Given the description of an element on the screen output the (x, y) to click on. 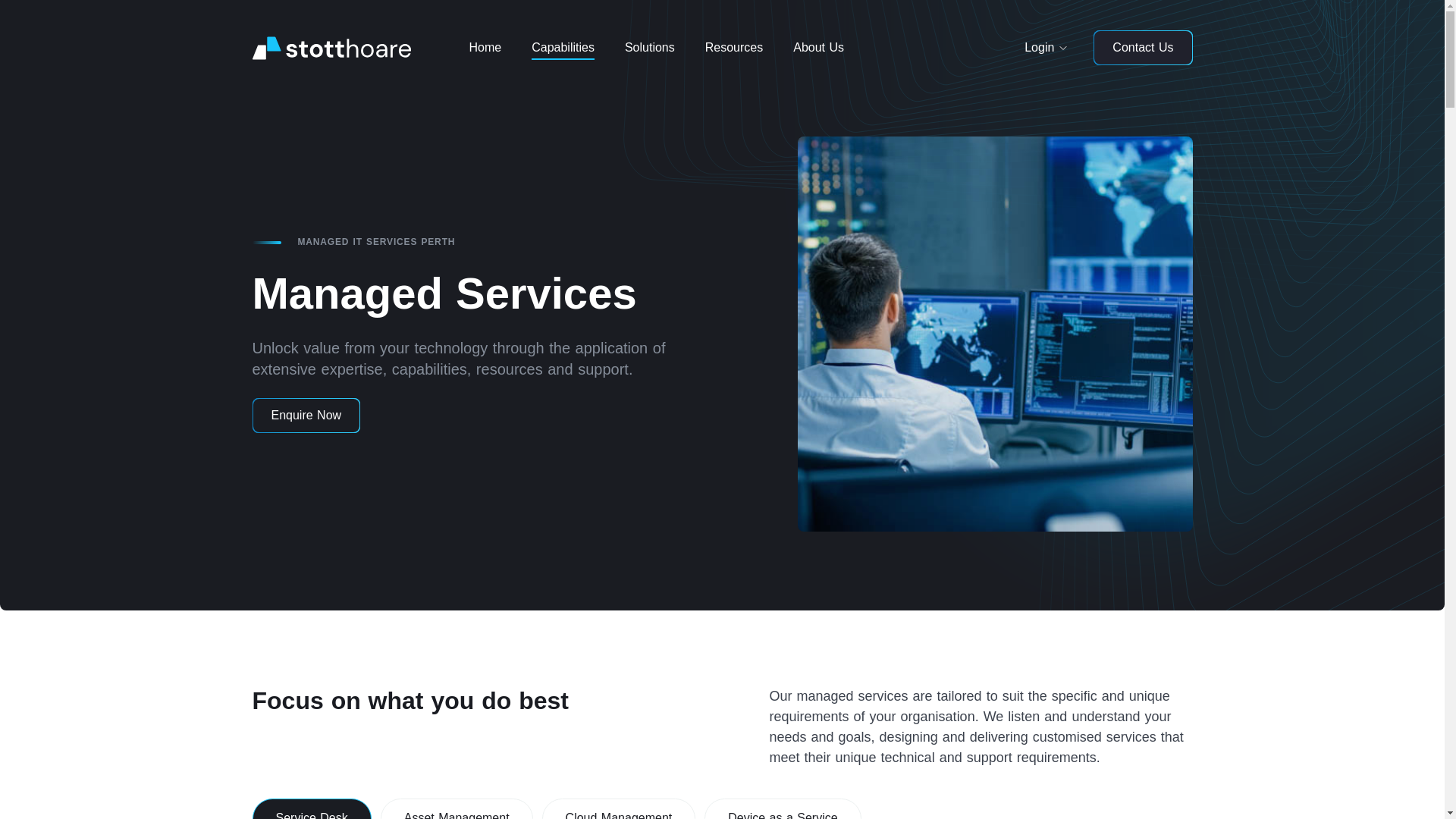
Solutions (650, 47)
Capabilities (563, 47)
Contact Us (1142, 47)
Enquire Now (305, 415)
Resources (733, 47)
About Us (818, 47)
Login (1038, 47)
Home (484, 47)
